Given the description of an element on the screen output the (x, y) to click on. 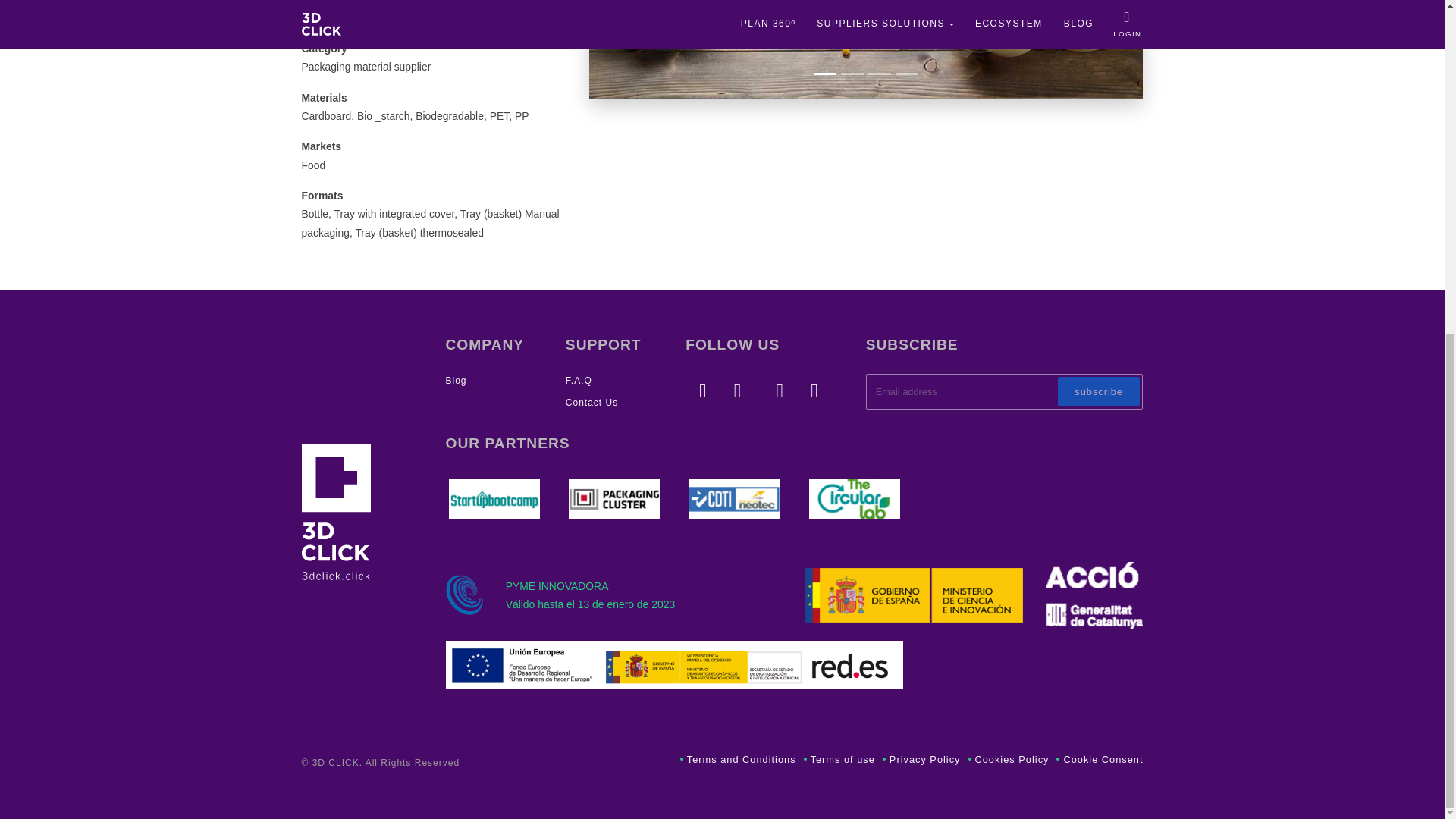
subscribe (1099, 391)
Privacy Policy (921, 758)
Cookie Consent (1099, 758)
Terms of use (839, 758)
Blog (456, 380)
Contact Us (591, 402)
Terms and Conditions (737, 758)
F.A.Q (579, 380)
Cookies Policy (1008, 758)
